Given the description of an element on the screen output the (x, y) to click on. 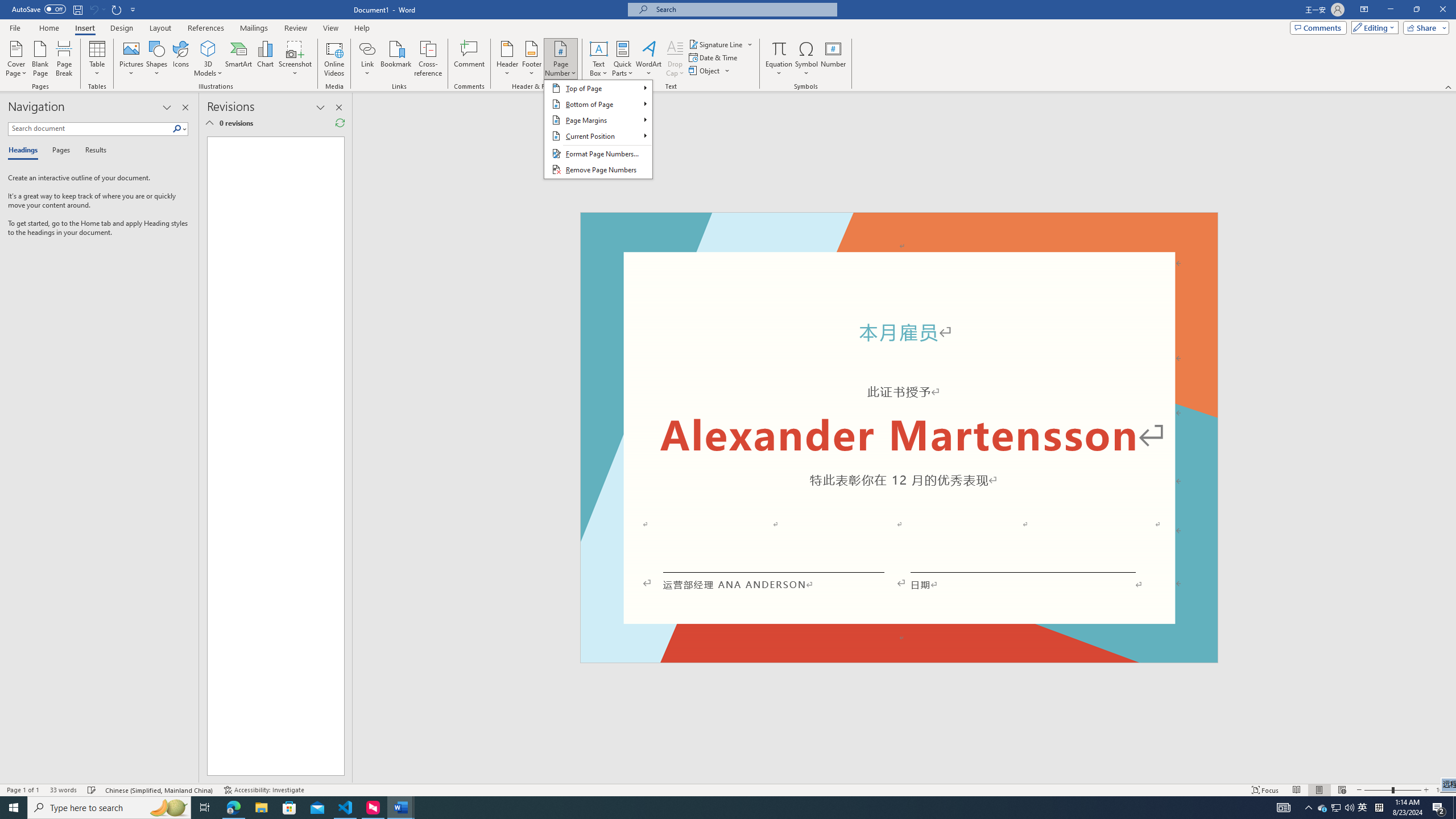
User Promoted Notification Area (1336, 807)
Quick Parts (622, 58)
Cross-reference... (428, 58)
Show Detailed Summary (209, 122)
Repeat Doc Close (117, 9)
Table (97, 58)
Q2790: 100% (1349, 807)
Can't Undo (96, 9)
File Explorer (261, 807)
Bookmark... (396, 58)
